Given the description of an element on the screen output the (x, y) to click on. 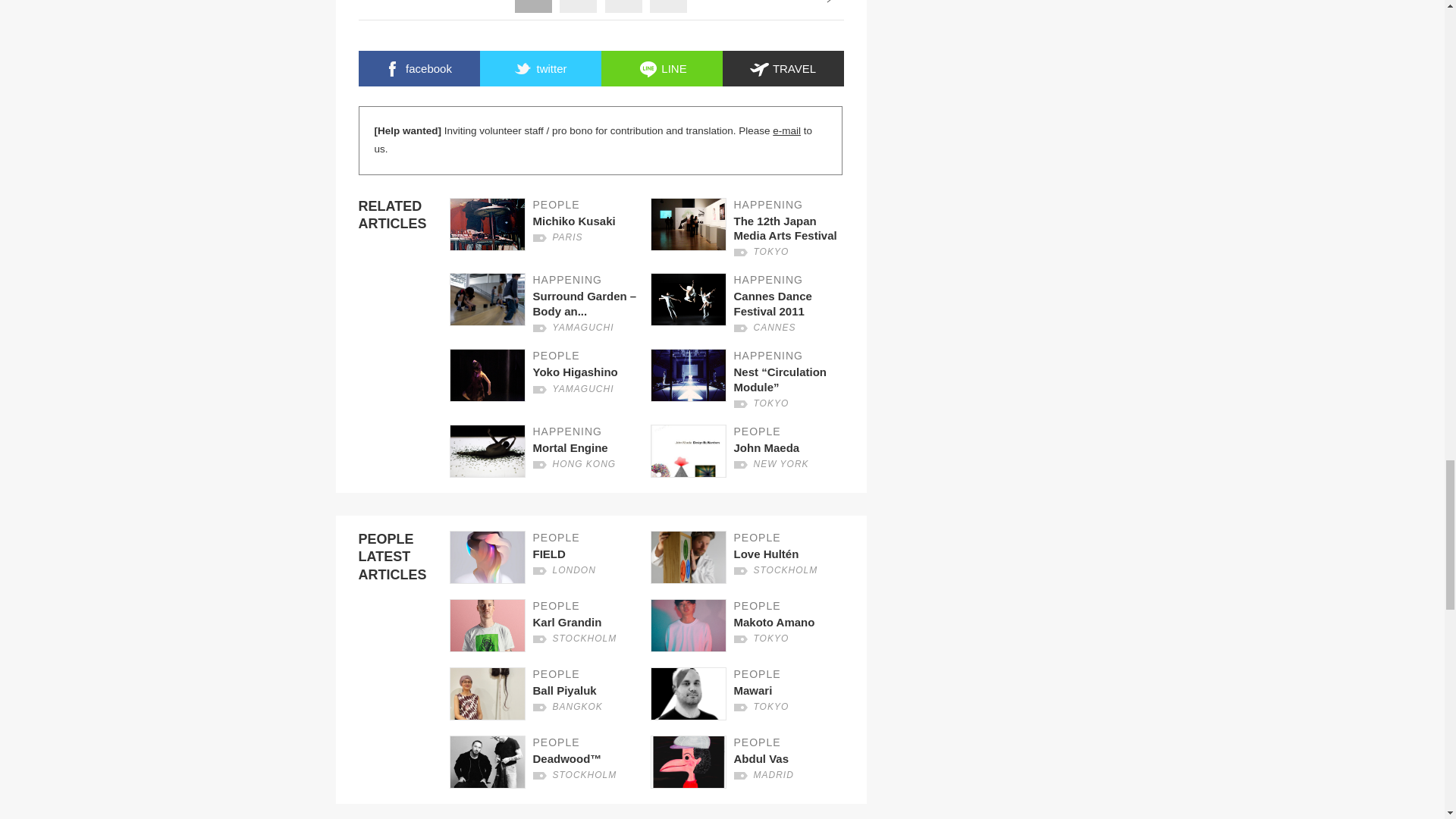
2 (577, 1)
LINE (660, 68)
twitter (750, 451)
4 (539, 68)
3 (667, 1)
e-mail (750, 228)
